Given the description of an element on the screen output the (x, y) to click on. 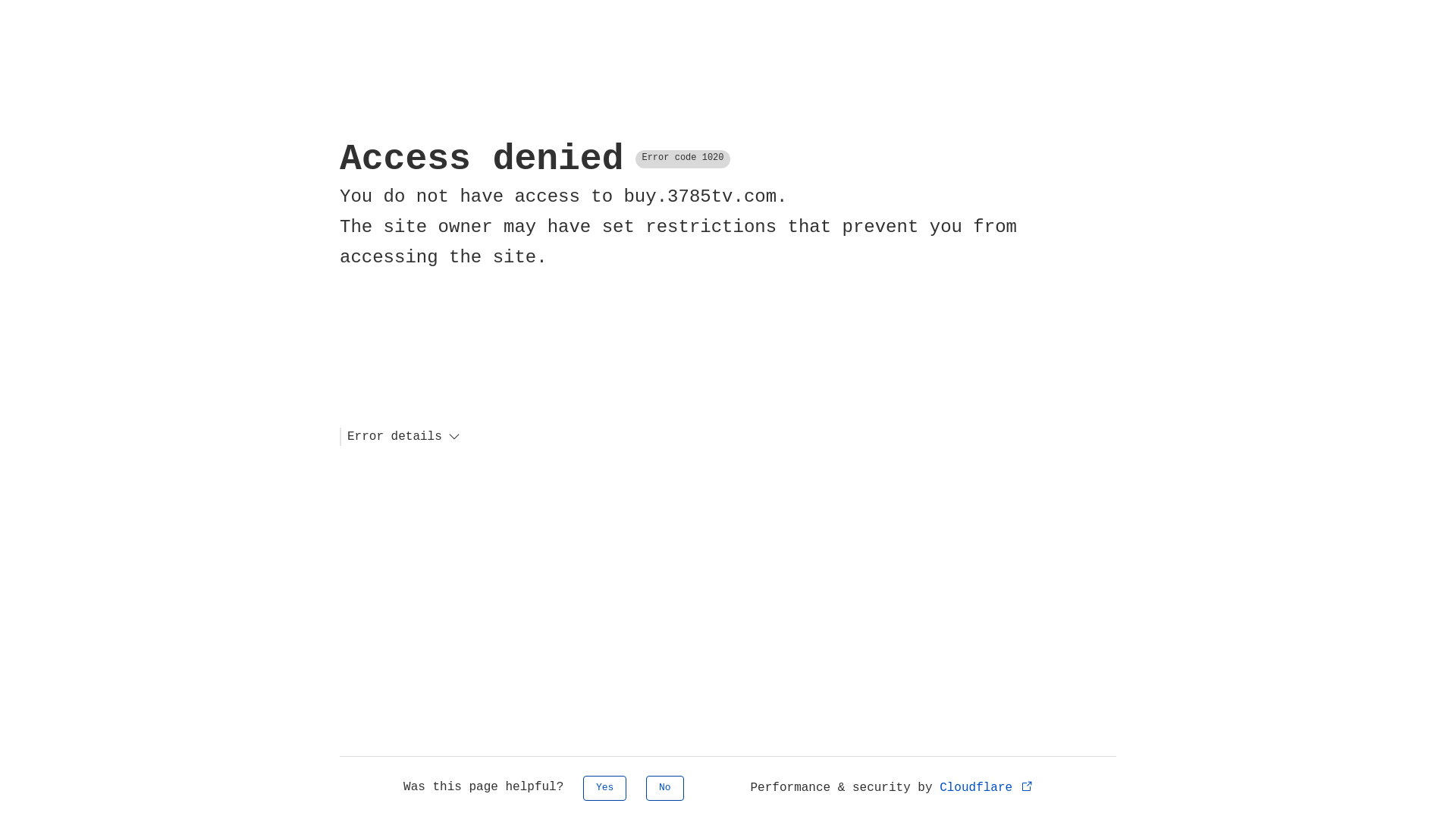
No Element type: text (665, 787)
Opens in new tab Element type: hover (1027, 785)
Cloudflare Element type: text (986, 787)
Yes Element type: text (604, 787)
